Given the description of an element on the screen output the (x, y) to click on. 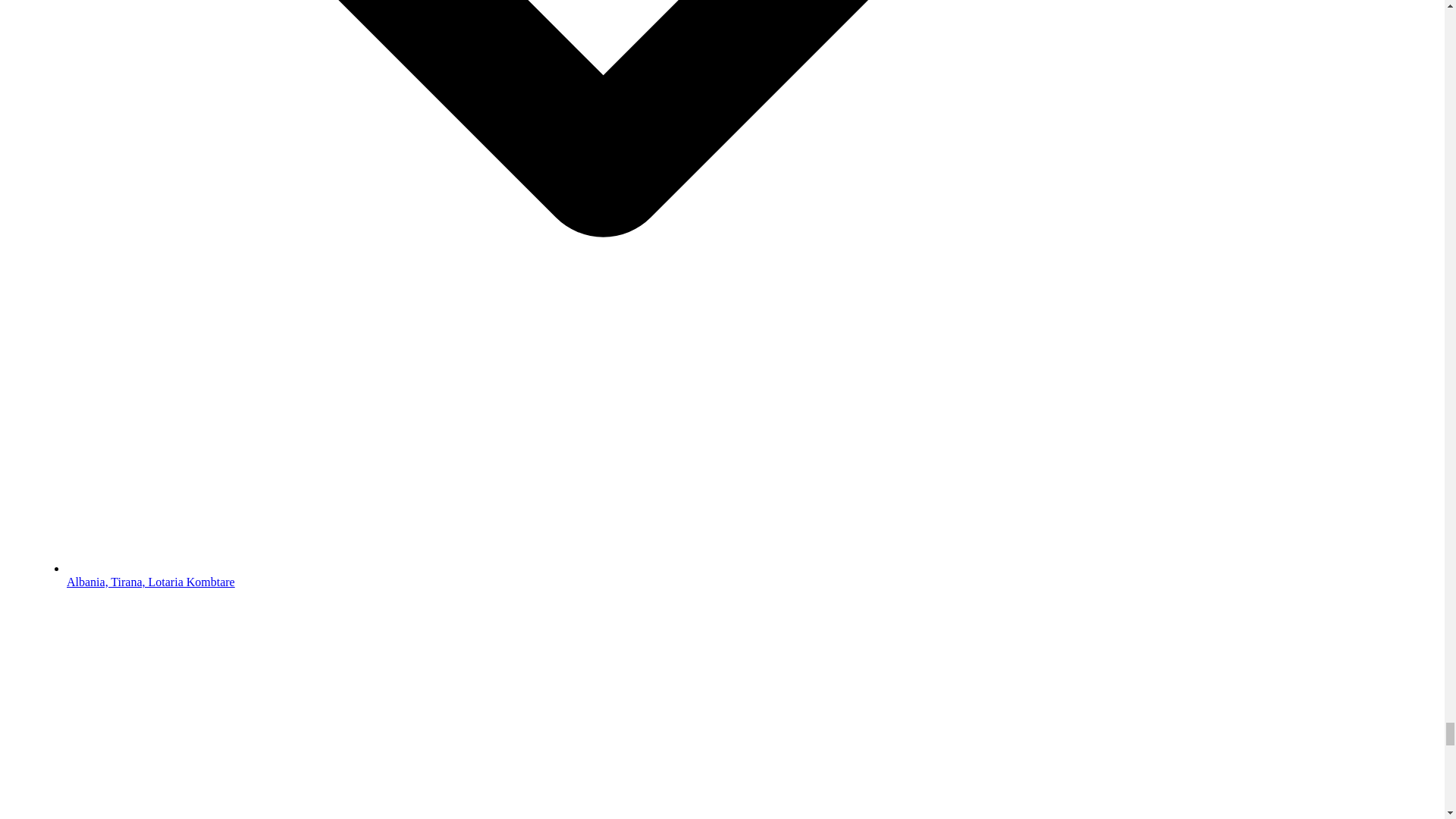
Albania, Tirana, Lotaria Kombtare (150, 581)
